Given the description of an element on the screen output the (x, y) to click on. 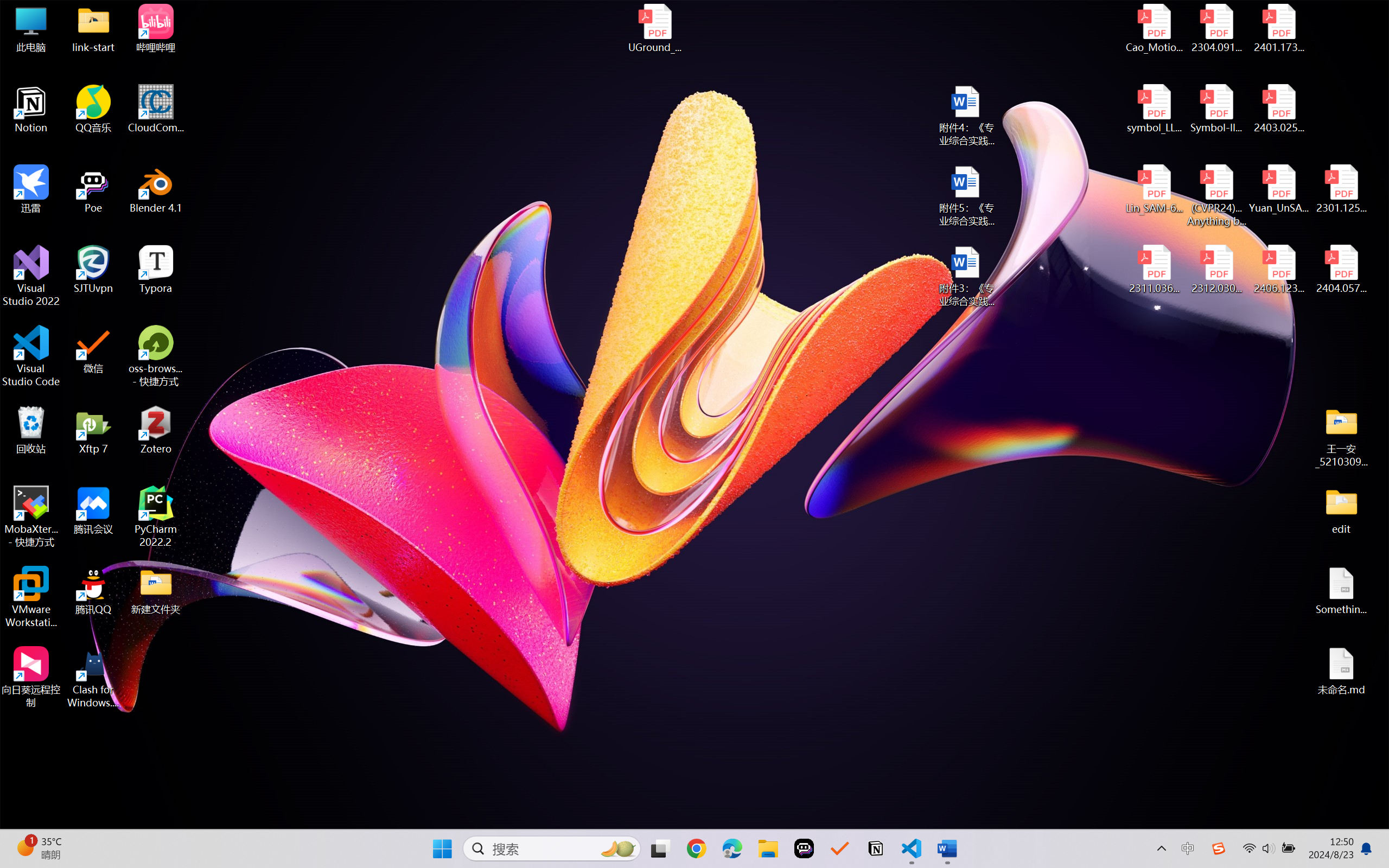
Blender 4.1 (156, 189)
(CVPR24)Matching Anything by Segmenting Anything.pdf (1216, 195)
VMware Workstation Pro (31, 597)
Visual Studio Code (31, 355)
2311.03658v2.pdf (1154, 269)
